Given the description of an element on the screen output the (x, y) to click on. 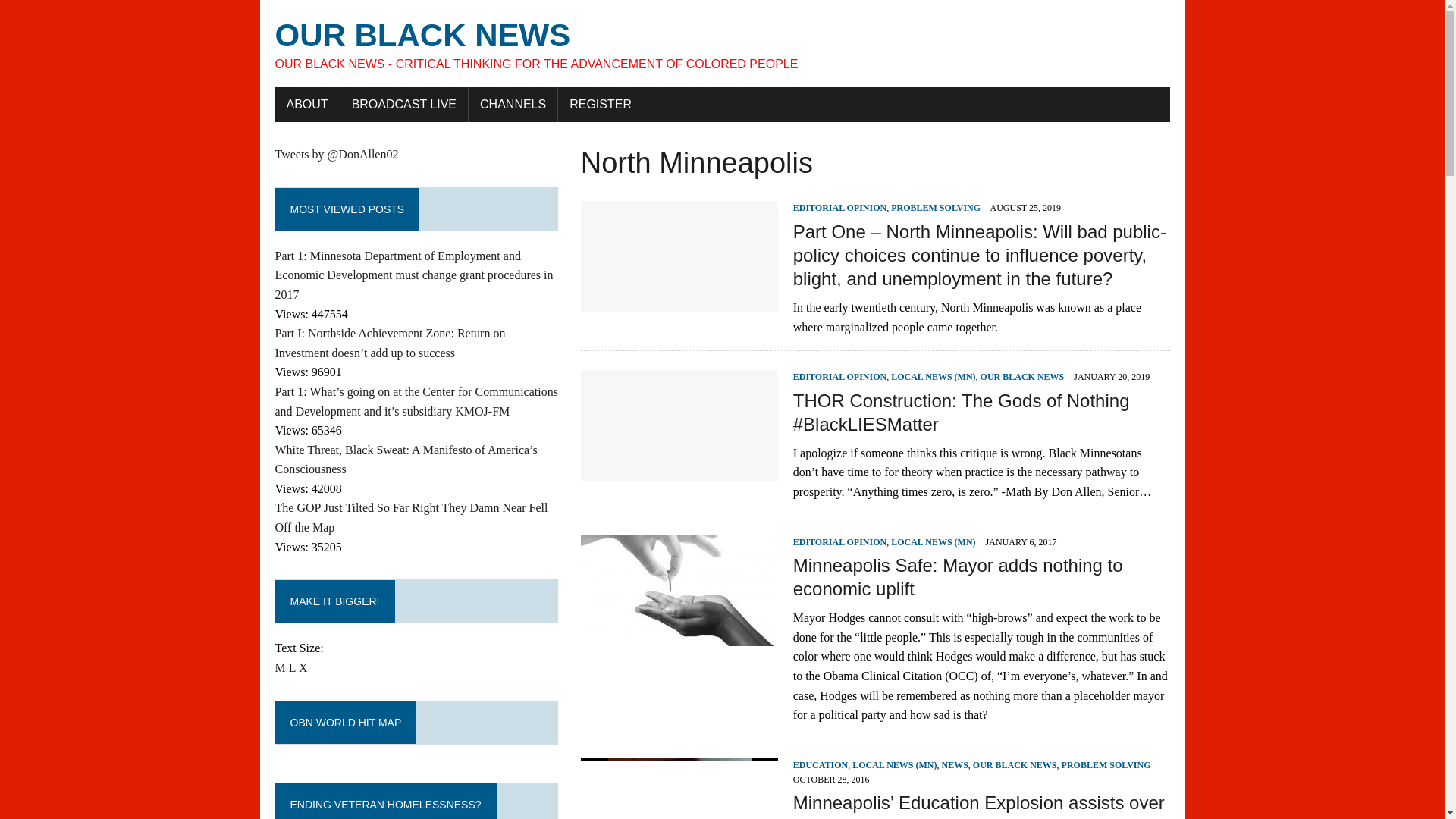
Our Black News (722, 43)
EDITORIAL OPINION (839, 542)
BROADCAST LIVE (403, 104)
PROBLEM SOLVING (935, 207)
ABOUT (307, 104)
Minneapolis Safe: Mayor adds nothing to economic uplift (957, 576)
OUR BLACK NEWS (1014, 765)
EDITORIAL OPINION (839, 207)
EDUCATION (820, 765)
NEWS (955, 765)
EDITORIAL OPINION (839, 376)
Minneapolis Safe: Mayor adds nothing to economic uplift (678, 635)
REGISTER (600, 104)
Minneapolis Safe: Mayor adds nothing to economic uplift (957, 576)
